Given the description of an element on the screen output the (x, y) to click on. 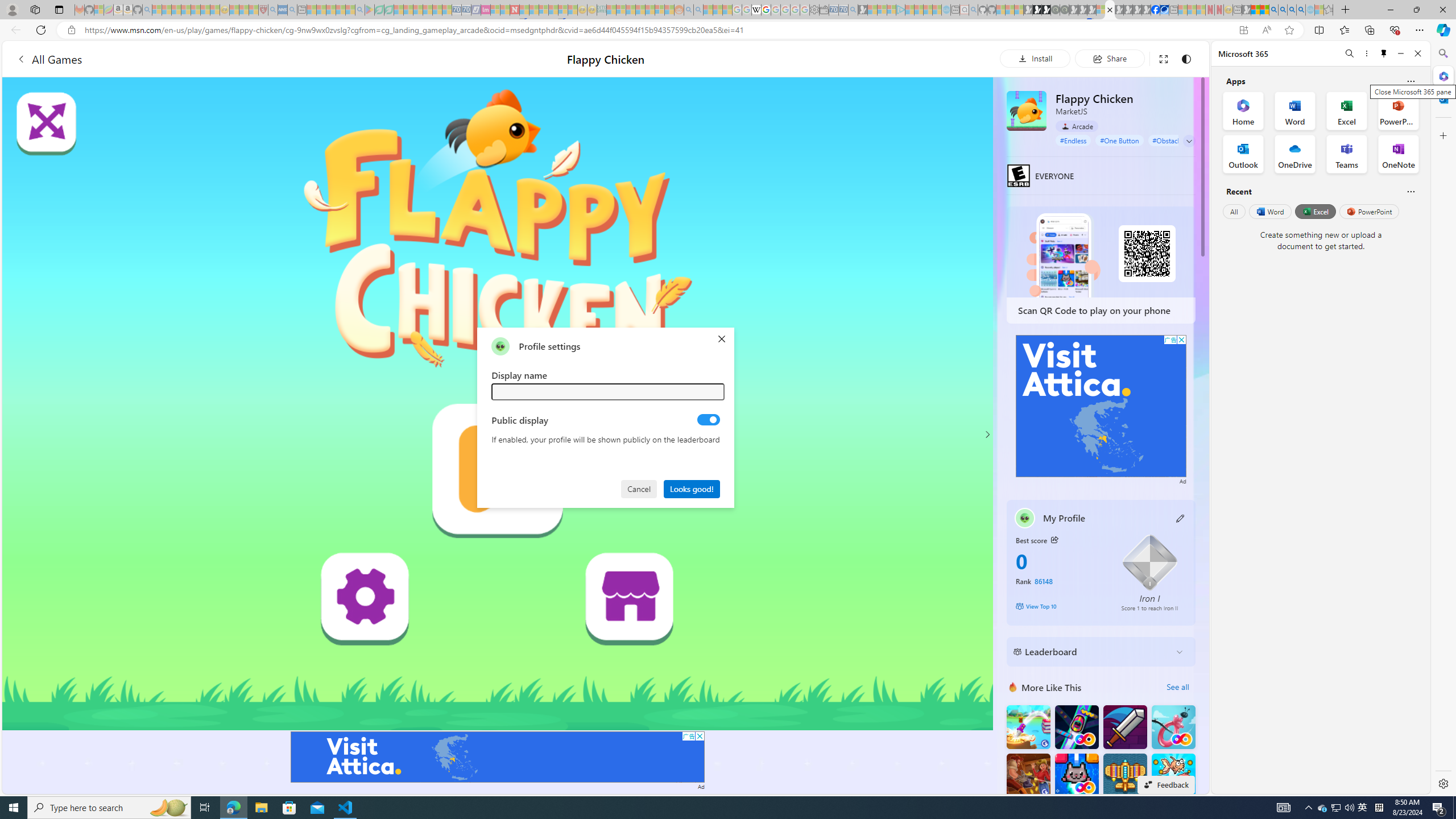
All Games (49, 58)
Looks good! (691, 488)
Install (1034, 58)
OneNote Office App (1398, 154)
View Top 10 (1060, 605)
Word (1269, 210)
Settings - Sleeping (814, 9)
